Given the description of an element on the screen output the (x, y) to click on. 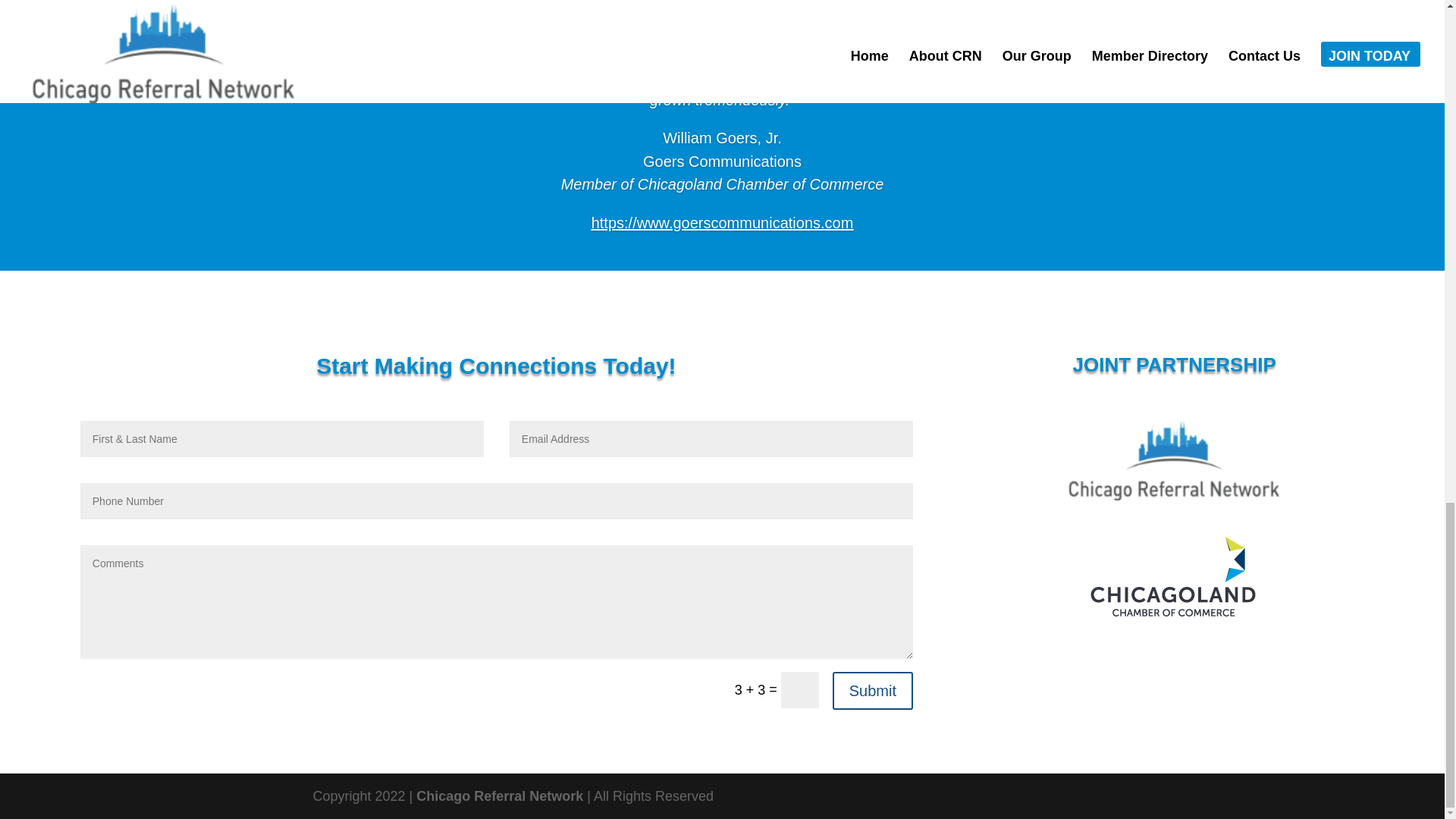
Chicago Referral Exchange Logo (1174, 458)
Chicago Referral Network (499, 795)
Chicagoland Chamber of Commerce Logo (1174, 578)
Submit (872, 690)
